Given the description of an element on the screen output the (x, y) to click on. 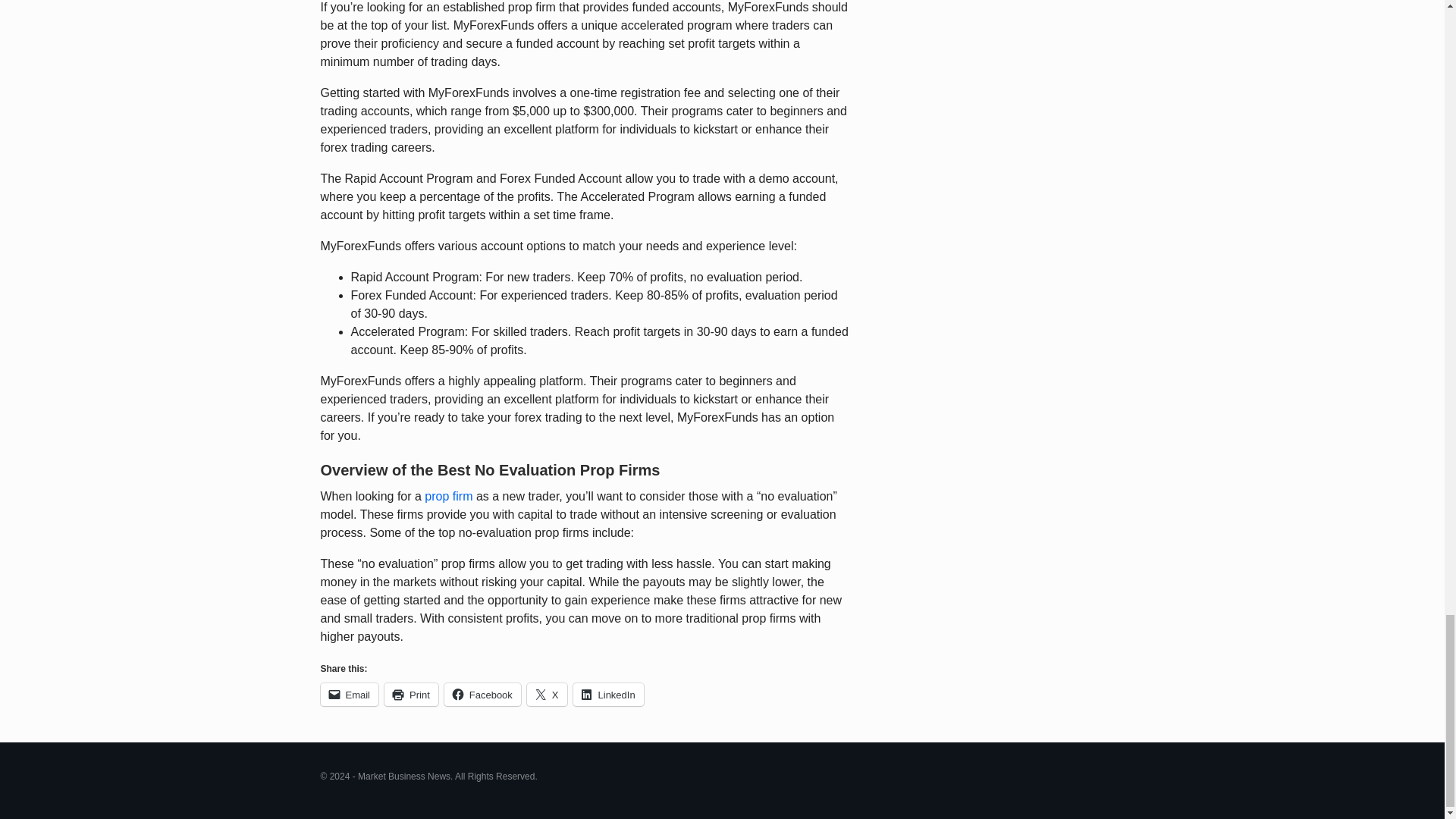
Facebook (482, 694)
Click to share on LinkedIn (608, 694)
prop firm (448, 495)
X (547, 694)
Click to email a link to a friend (349, 694)
Print (411, 694)
Click to print (411, 694)
Click to share on X (547, 694)
Click to share on Facebook (482, 694)
LinkedIn (608, 694)
Email (349, 694)
